Given the description of an element on the screen output the (x, y) to click on. 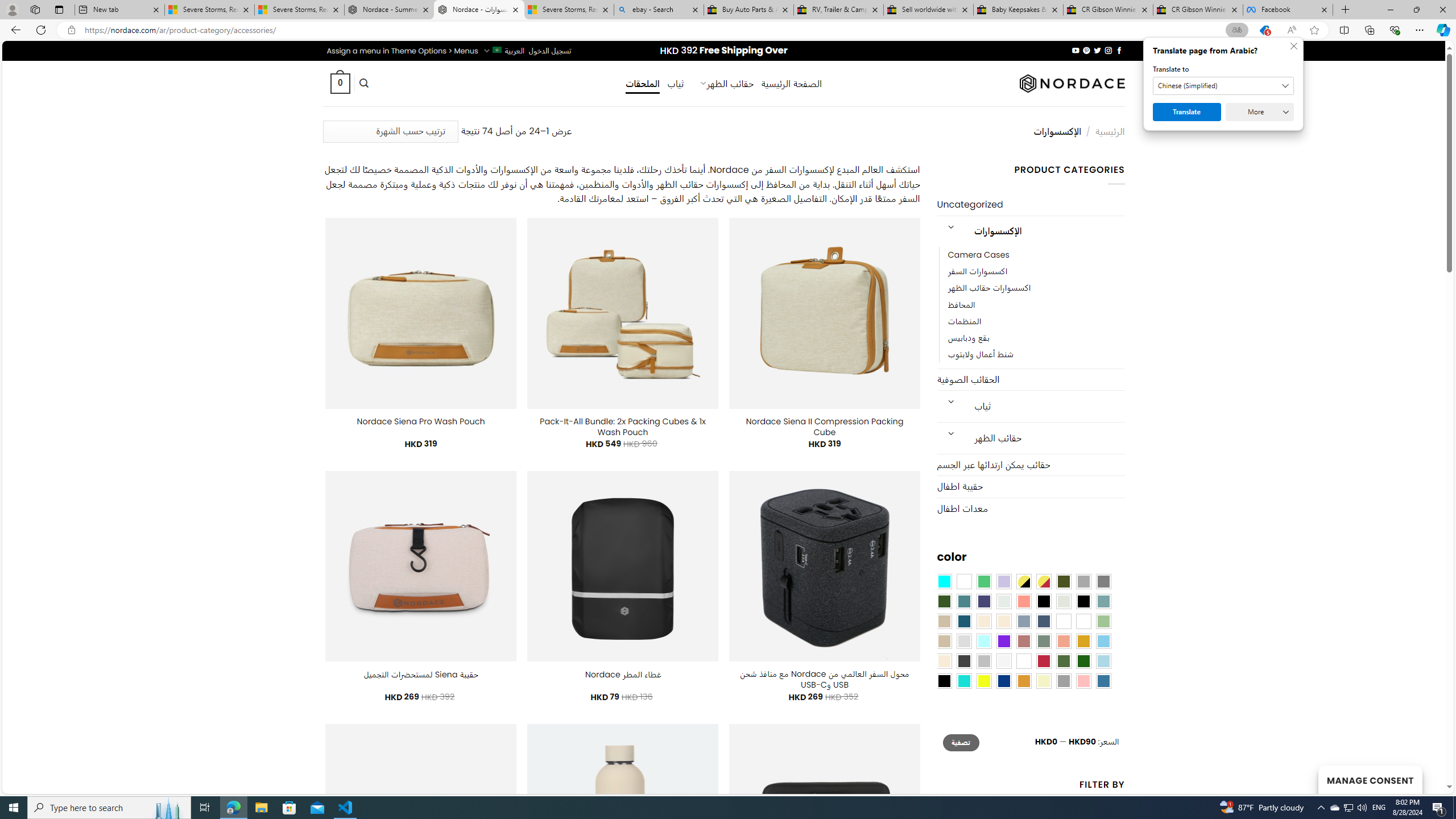
Nordace Siena Pro Wash Pouch (420, 421)
Light Purple (1003, 581)
Black-Brown (1082, 601)
 0  (340, 83)
Clear (963, 581)
RV, Trailer & Camper Steps & Ladders for sale | eBay (838, 9)
More (1259, 112)
ebay - Search (658, 9)
Aqua Blue (944, 581)
Emerald Green (983, 581)
Follow on Pinterest (1086, 50)
